Given the description of an element on the screen output the (x, y) to click on. 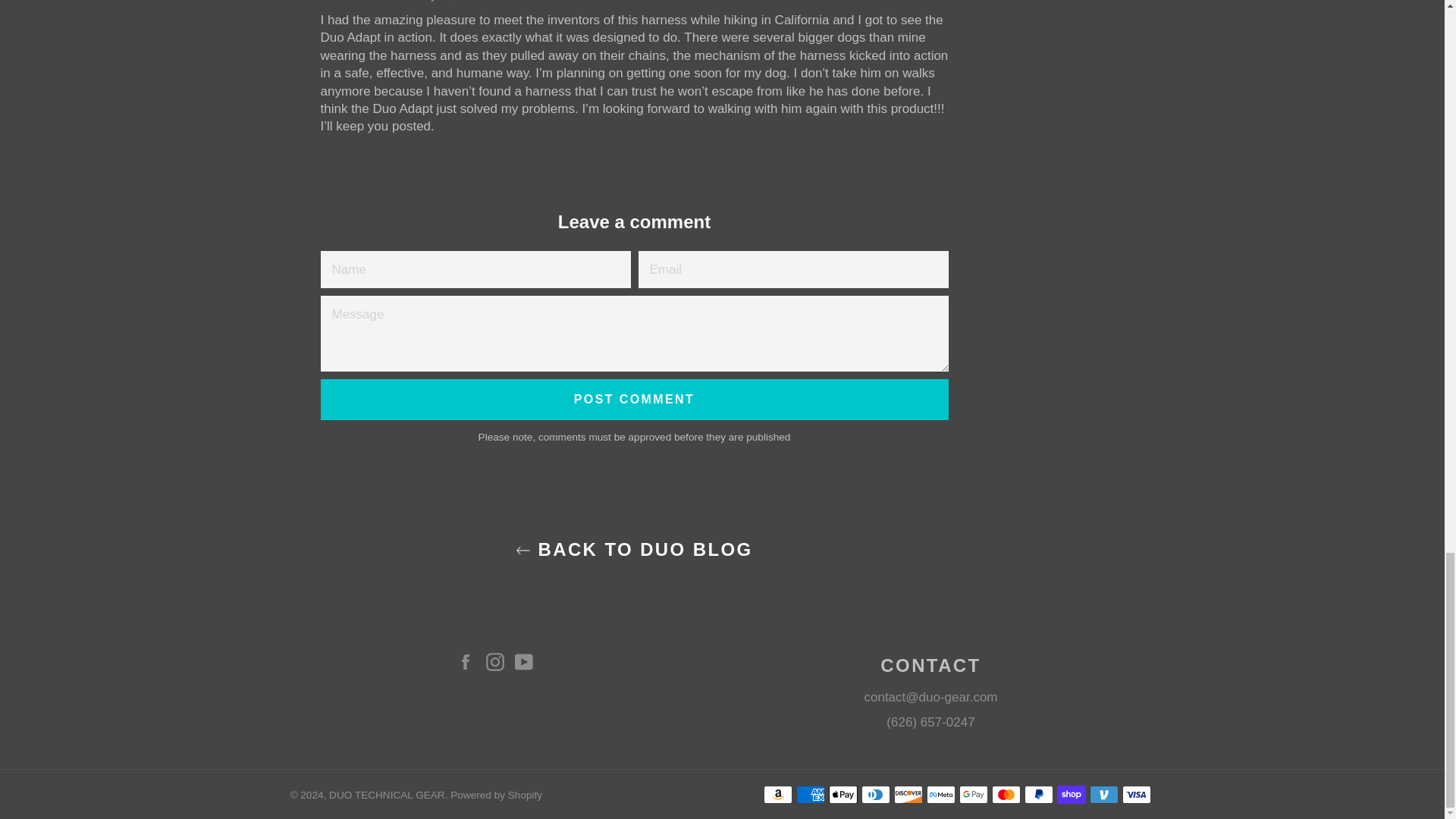
DUO TECHNICAL GEAR on Facebook (469, 661)
Post comment (633, 399)
DUO TECHNICAL GEAR on YouTube (527, 661)
BACK TO DUO BLOG (633, 549)
Post comment (633, 399)
DUO TECHNICAL GEAR on Instagram (497, 661)
